Given the description of an element on the screen output the (x, y) to click on. 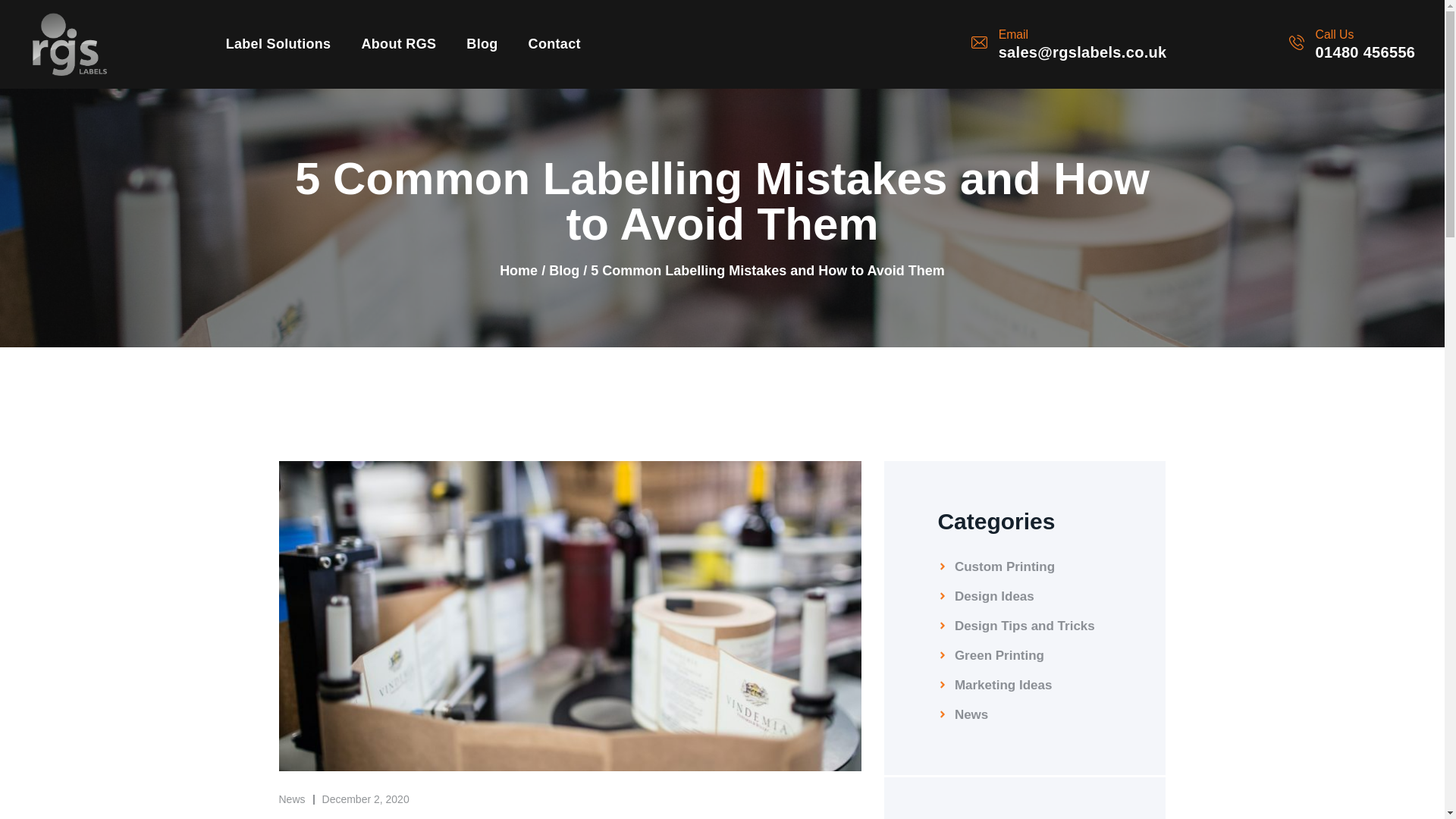
About RGS (398, 43)
Label Solutions (278, 43)
Blog (481, 43)
Email (1012, 33)
Contact (554, 43)
